Given the description of an element on the screen output the (x, y) to click on. 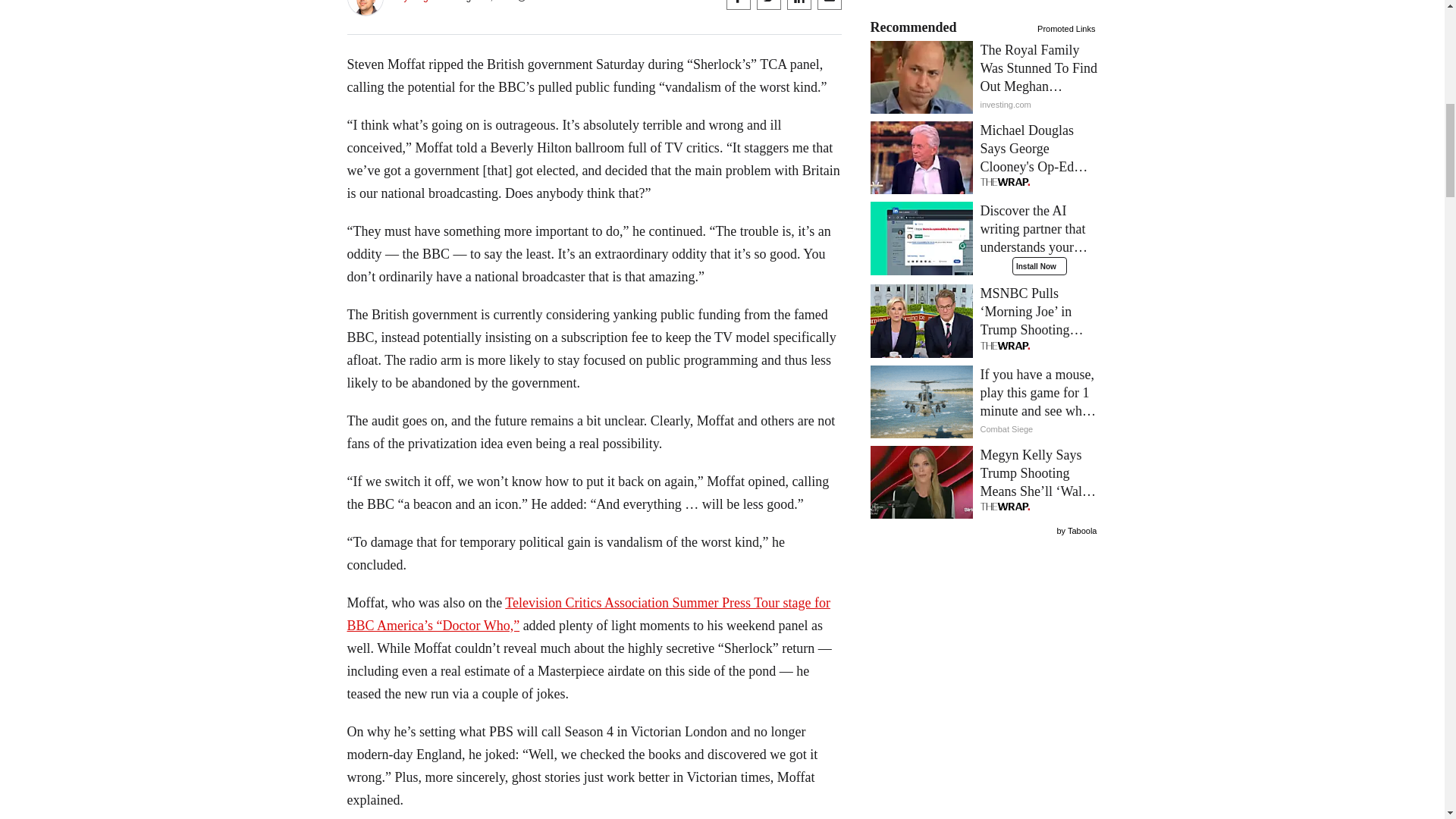
Posts by Tony Maglio (414, 1)
